Given the description of an element on the screen output the (x, y) to click on. 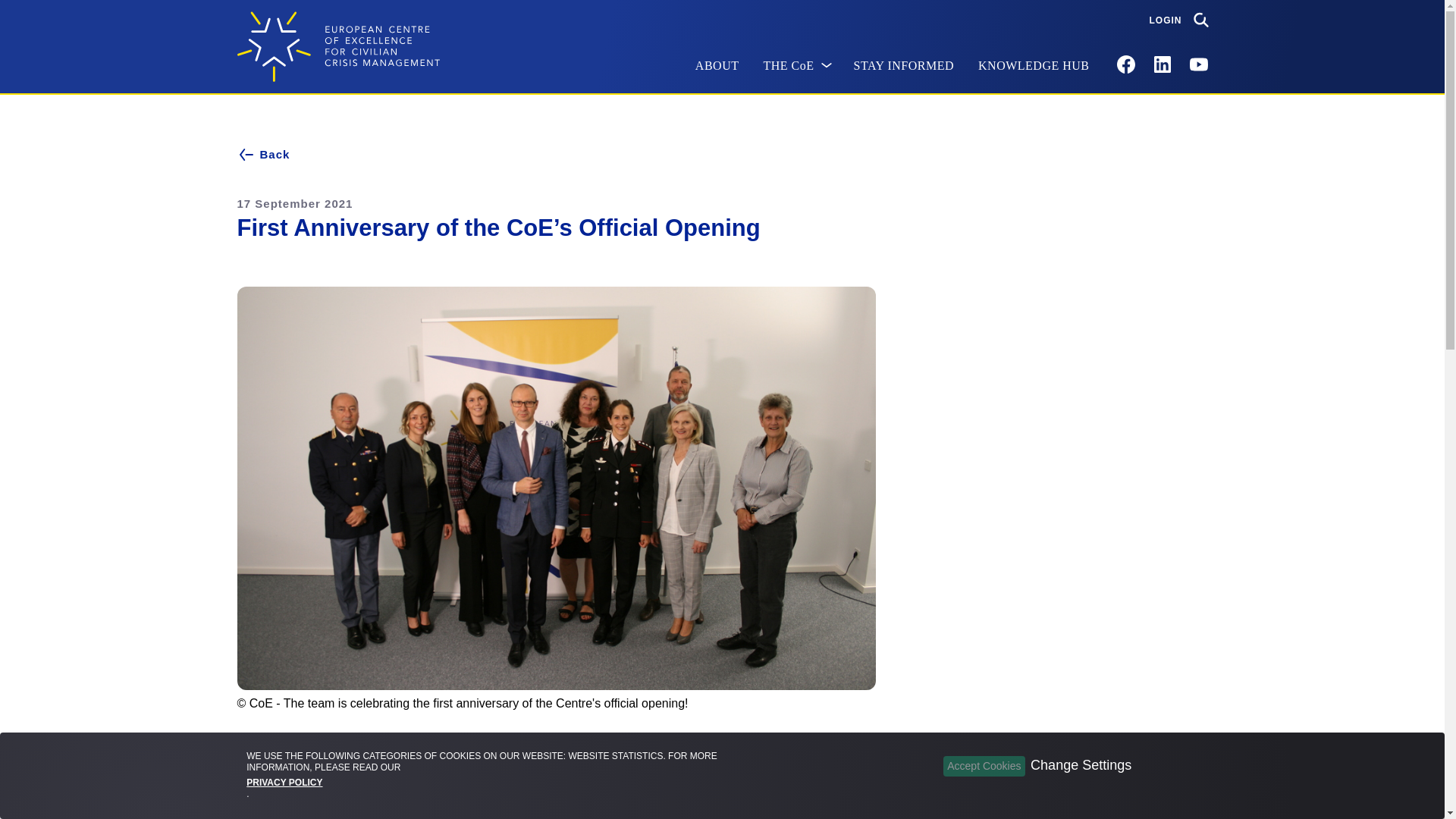
Login (1166, 20)
ABOUT (716, 65)
KNOWLEDGE HUB (1033, 65)
THE CoE (796, 65)
STAY INFORMED (903, 65)
Back (721, 154)
LOGIN (1166, 20)
